Given the description of an element on the screen output the (x, y) to click on. 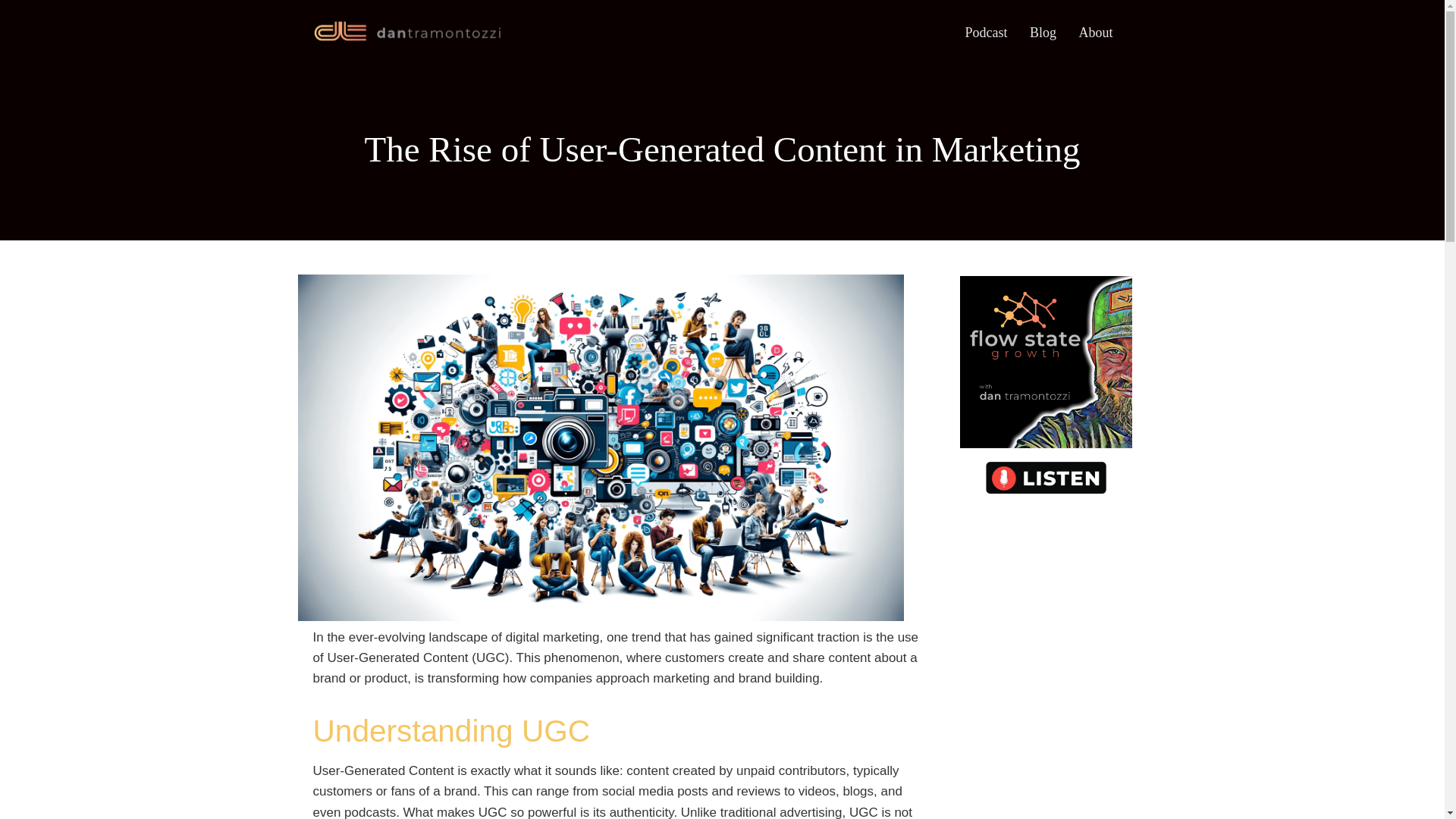
Podcast (985, 32)
About (1095, 32)
Blog (1043, 32)
